Given the description of an element on the screen output the (x, y) to click on. 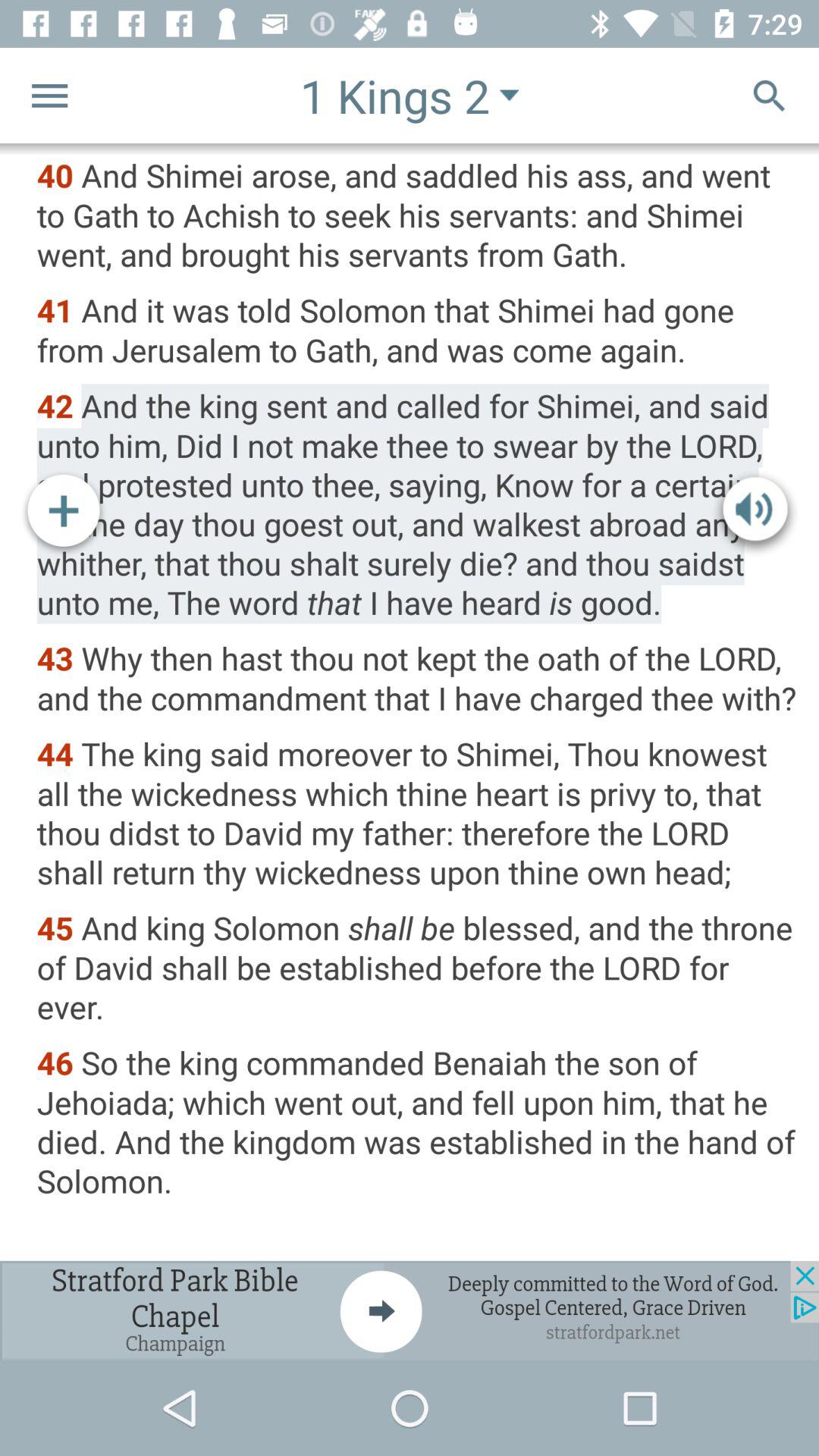
more (63, 513)
